Given the description of an element on the screen output the (x, y) to click on. 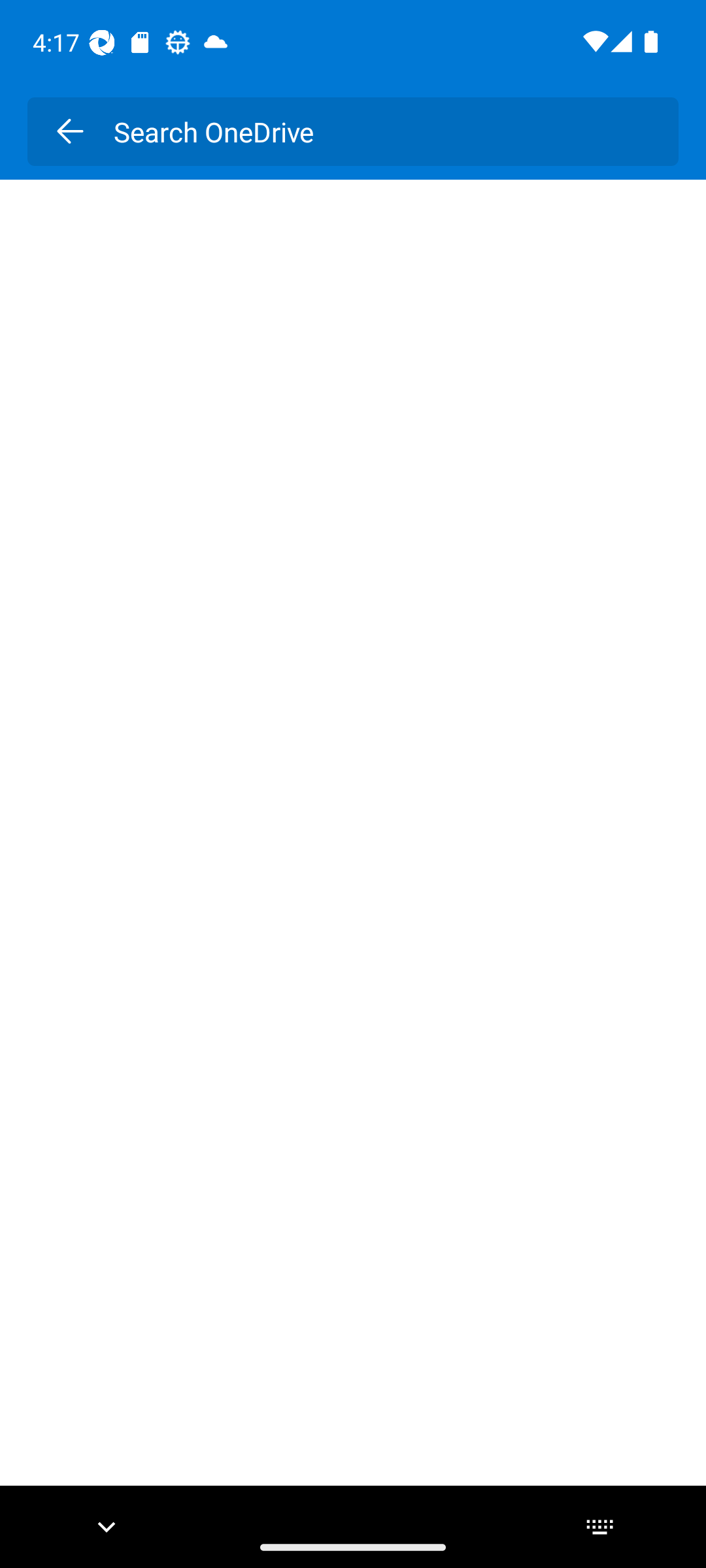
Navigate Up (69, 131)
Search OneDrive (382, 131)
